Given the description of an element on the screen output the (x, y) to click on. 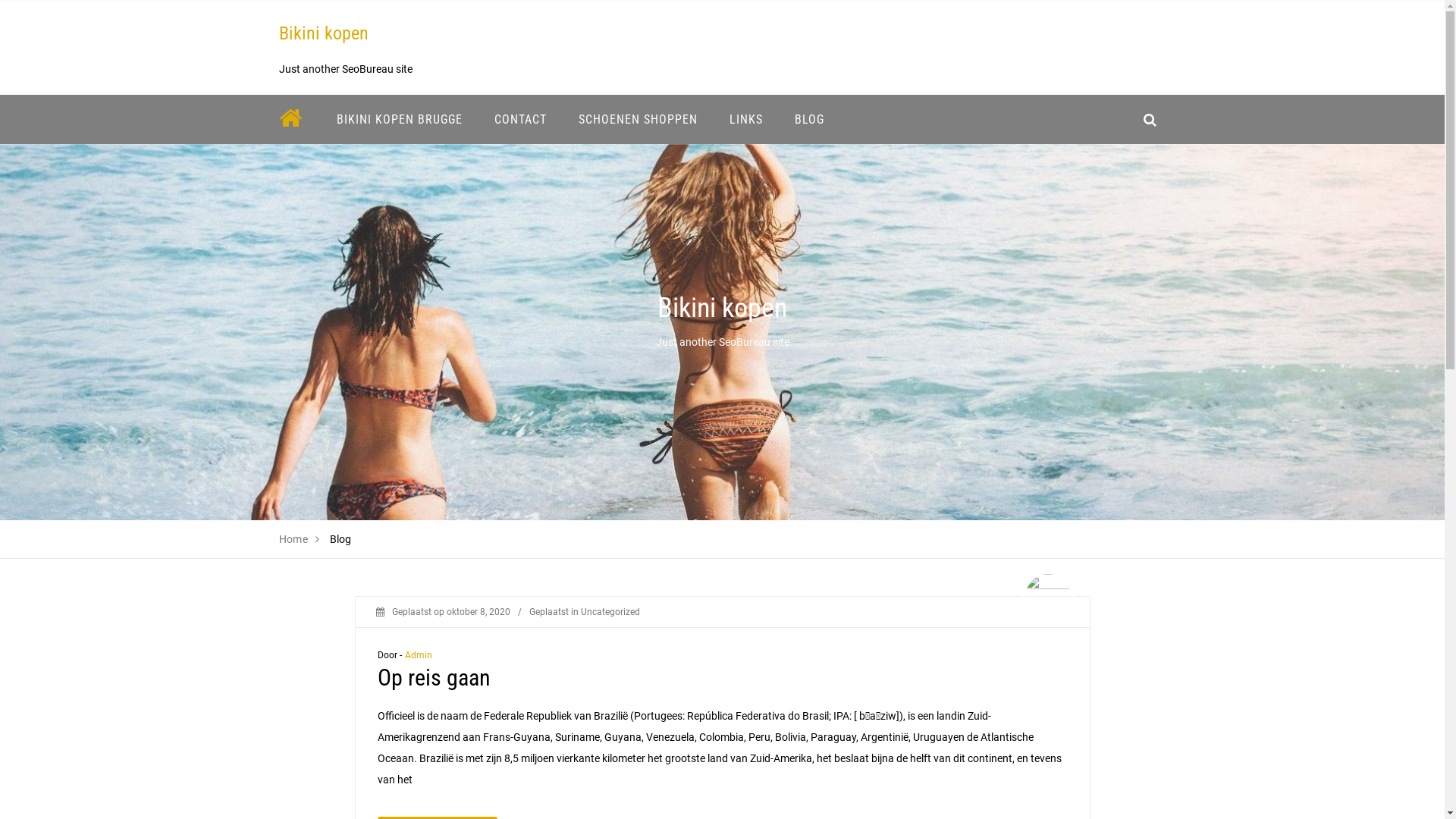
search_icon Element type: hover (1148, 119)
SCHOENEN SHOPPEN Element type: text (637, 119)
CONTACT Element type: text (519, 119)
BIKINI KOPEN BRUGGE Element type: text (398, 119)
Op reis gaan Element type: text (433, 677)
Uncategorized Element type: text (610, 611)
Bikini kopen Element type: text (323, 32)
Admin Element type: text (418, 654)
LINKS Element type: text (744, 119)
BLOG Element type: text (808, 119)
Home Element type: text (293, 539)
